Given the description of an element on the screen output the (x, y) to click on. 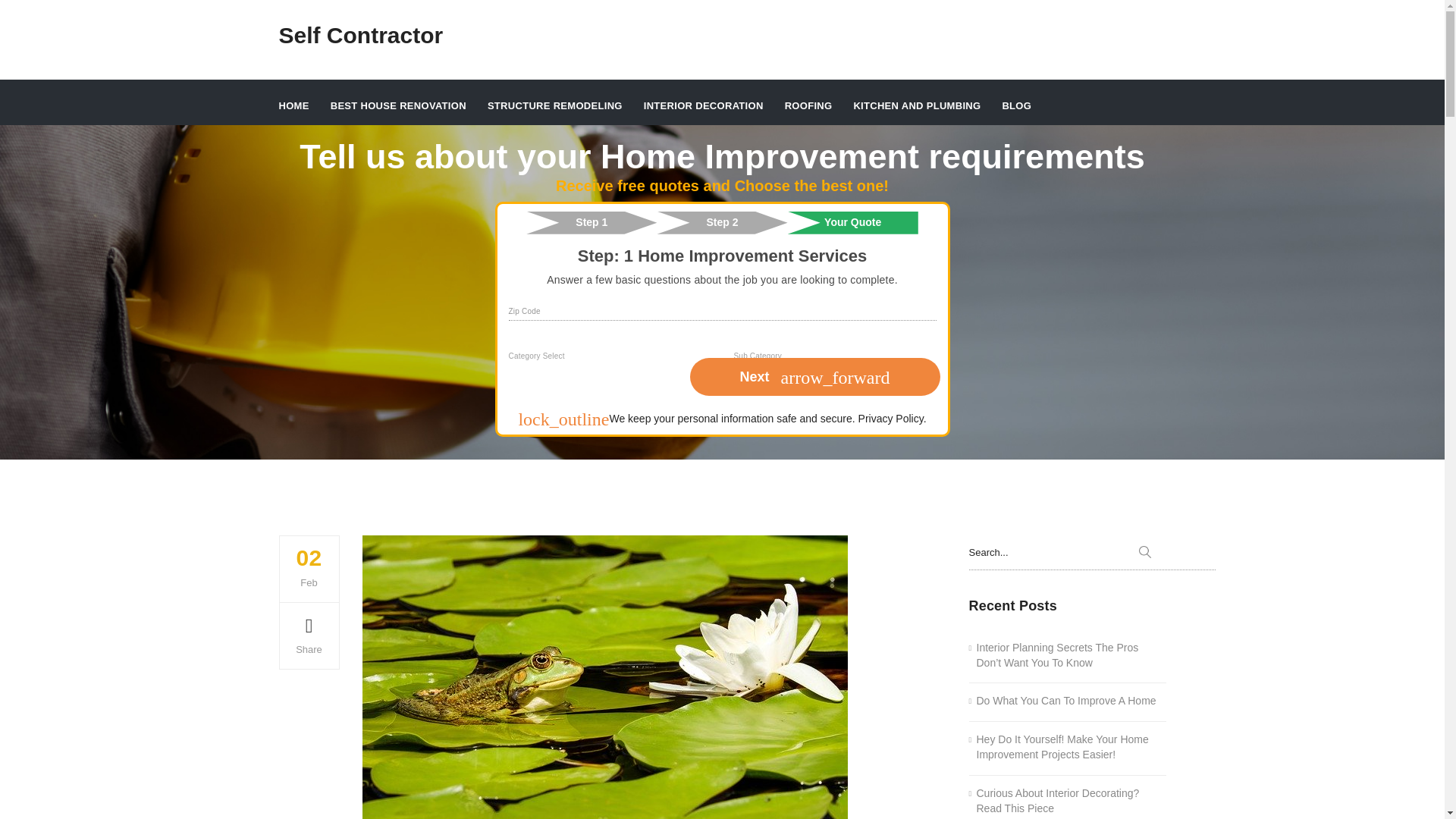
Privacy Policy. (892, 418)
Self Contractor (361, 35)
INTERIOR DECORATION (702, 105)
STRUCTURE REMODELING (555, 105)
KITCHEN AND PLUMBING (916, 105)
Do What You Can To Improve A Home (1062, 701)
ROOFING (808, 105)
BEST HOUSE RENOVATION (397, 105)
Curious About Interior Decorating? Read This Piece (1067, 801)
